Given the description of an element on the screen output the (x, y) to click on. 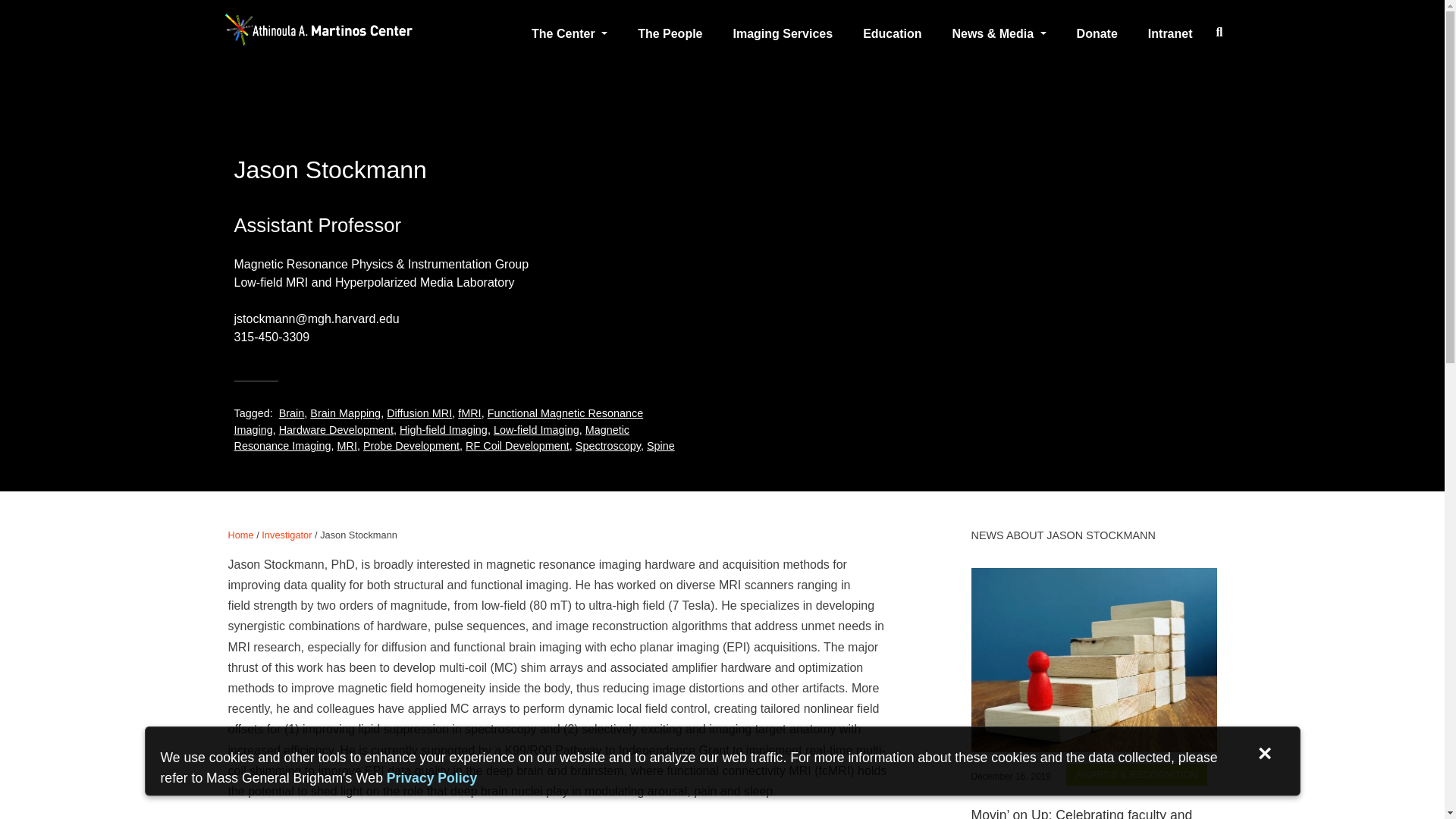
Brain (291, 413)
Home (240, 534)
Magnetic Resonance Imaging (430, 438)
Spectroscopy (607, 445)
Imaging Services (782, 33)
Brain Mapping (345, 413)
Low-field Imaging (536, 429)
RF Coil Development (517, 445)
Donate (1097, 33)
Spine (660, 445)
Investigator (286, 534)
fMRI (469, 413)
The Center (563, 33)
High-field Imaging (442, 429)
Functional Magnetic Resonance Imaging (437, 421)
